Given the description of an element on the screen output the (x, y) to click on. 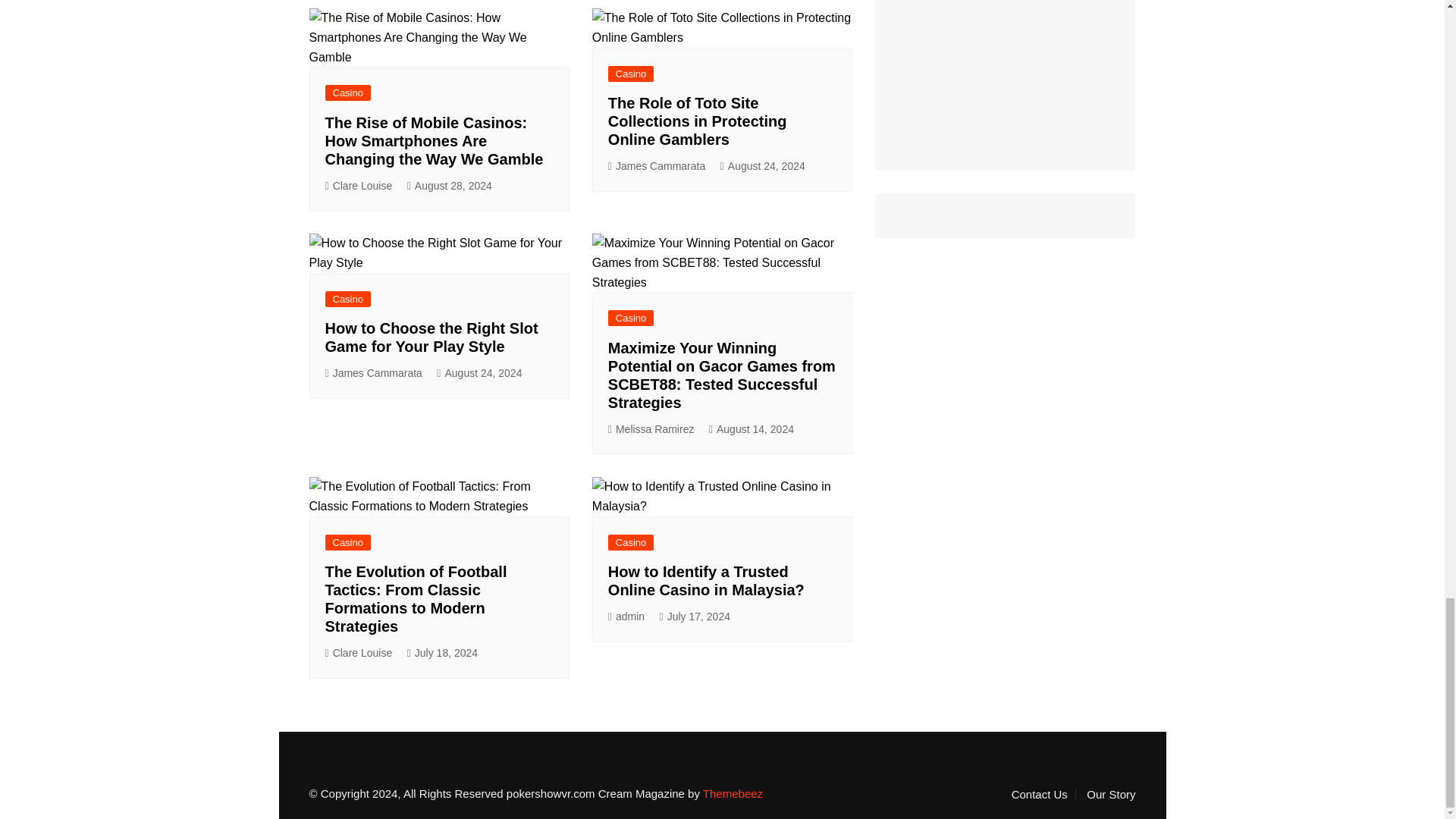
Clare Louise (357, 185)
Casino (346, 299)
August 24, 2024 (762, 166)
How to Choose the Right Slot Game for Your Play Style (430, 337)
Casino (346, 92)
August 14, 2024 (751, 429)
Melissa Ramirez (651, 429)
